Given the description of an element on the screen output the (x, y) to click on. 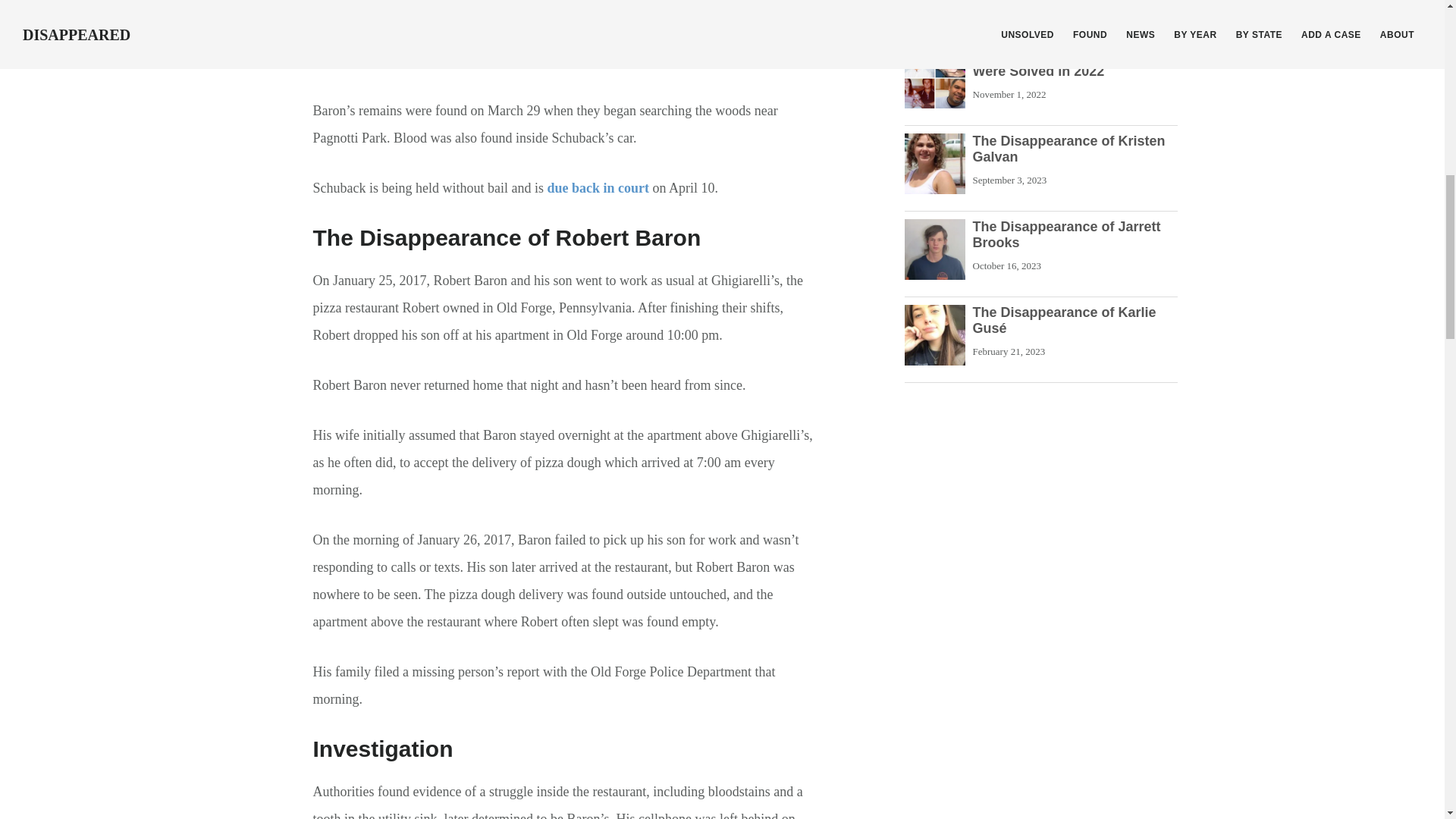
due back in court (598, 187)
10 Missing Persons Cases That Were Solved in 2022 (1074, 63)
The Disappearance of Kristen Galvan (1068, 149)
